Given the description of an element on the screen output the (x, y) to click on. 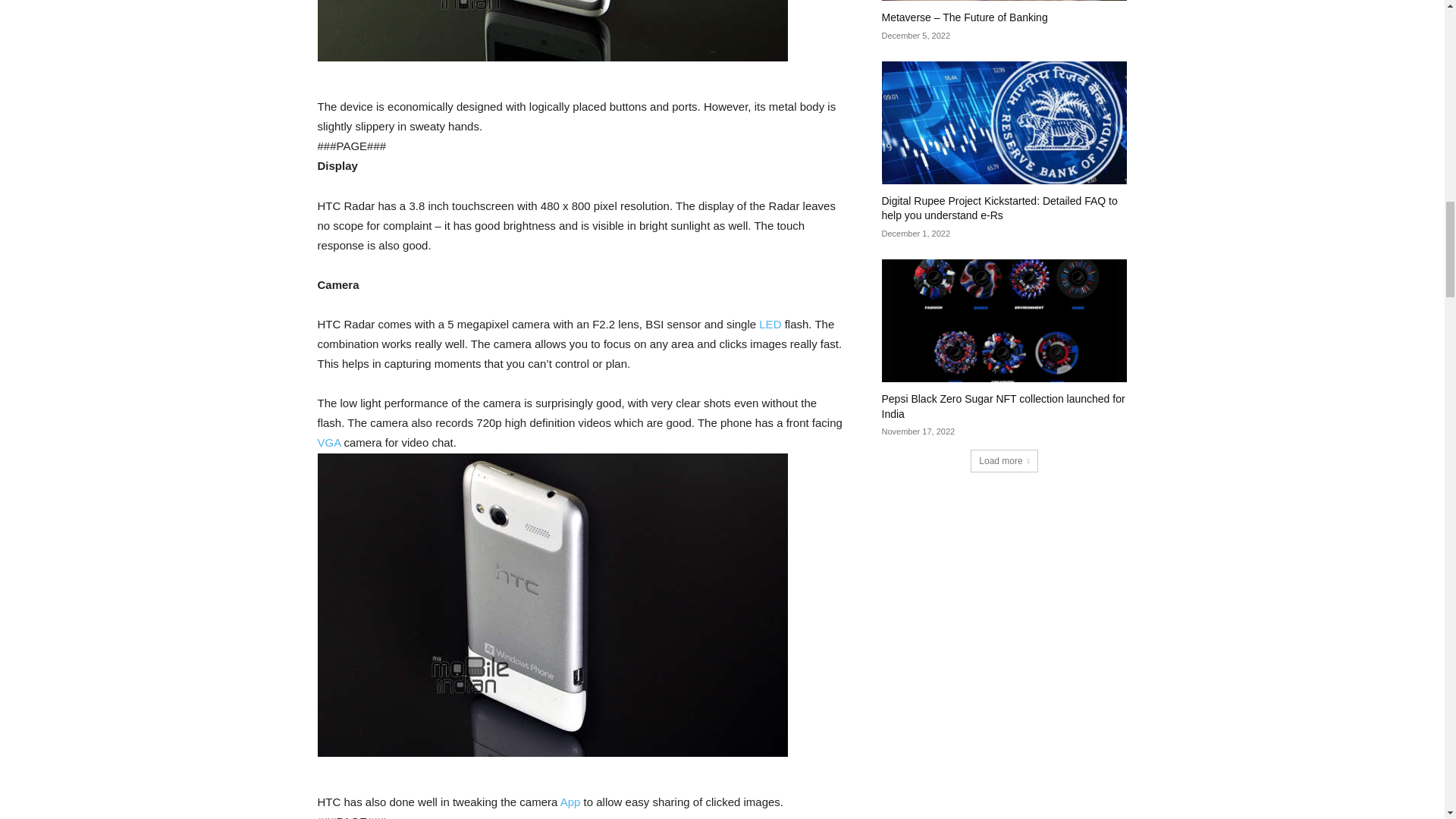
VGA (328, 441)
App (570, 801)
LED (769, 323)
